Given the description of an element on the screen output the (x, y) to click on. 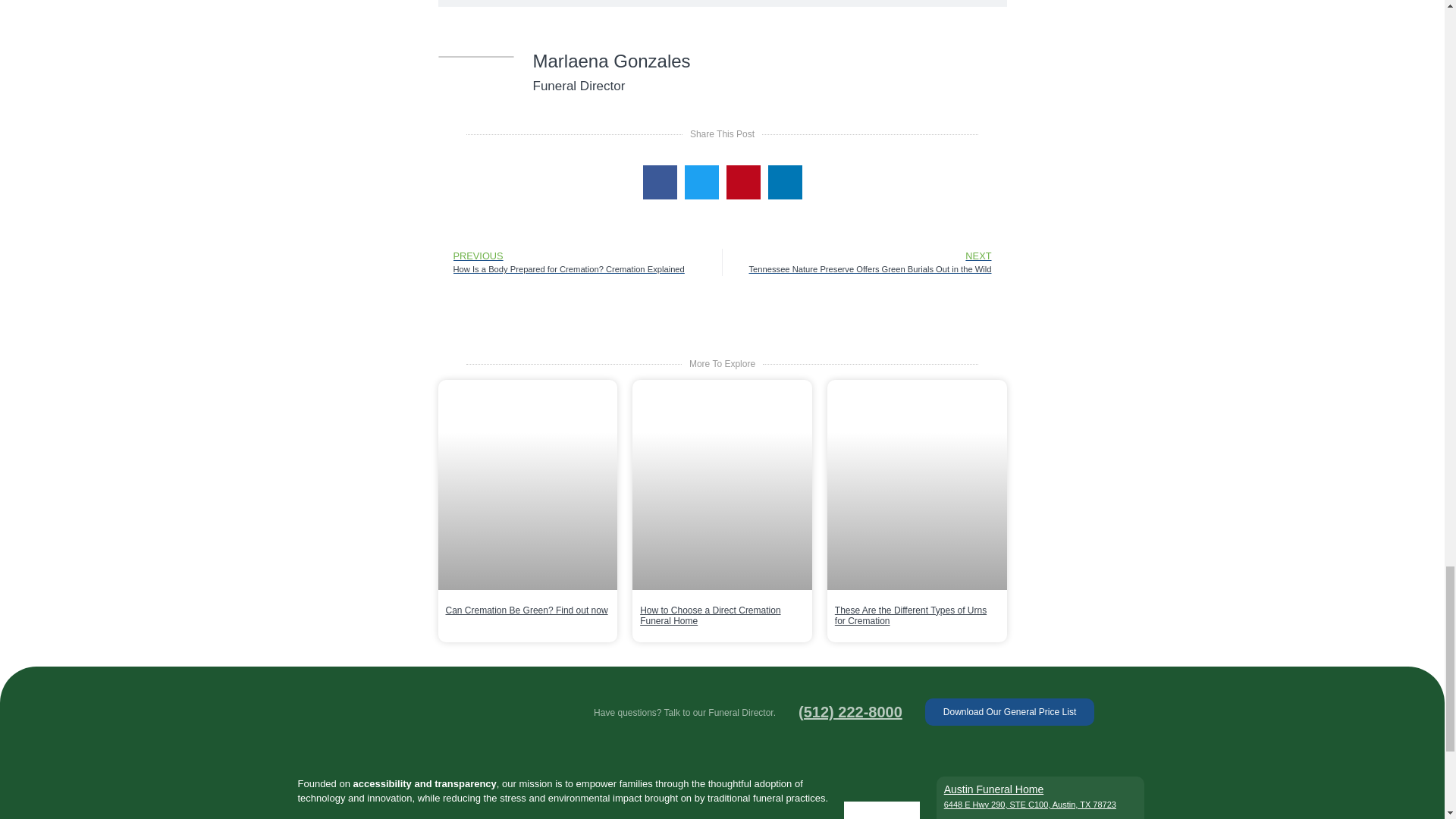
Download Our General Price List (1009, 711)
Can Cremation Be Green? Find out now (526, 610)
These Are the Different Types of Urns for Cremation (910, 615)
How to Choose a Direct Cremation Funeral Home (710, 615)
